Given the description of an element on the screen output the (x, y) to click on. 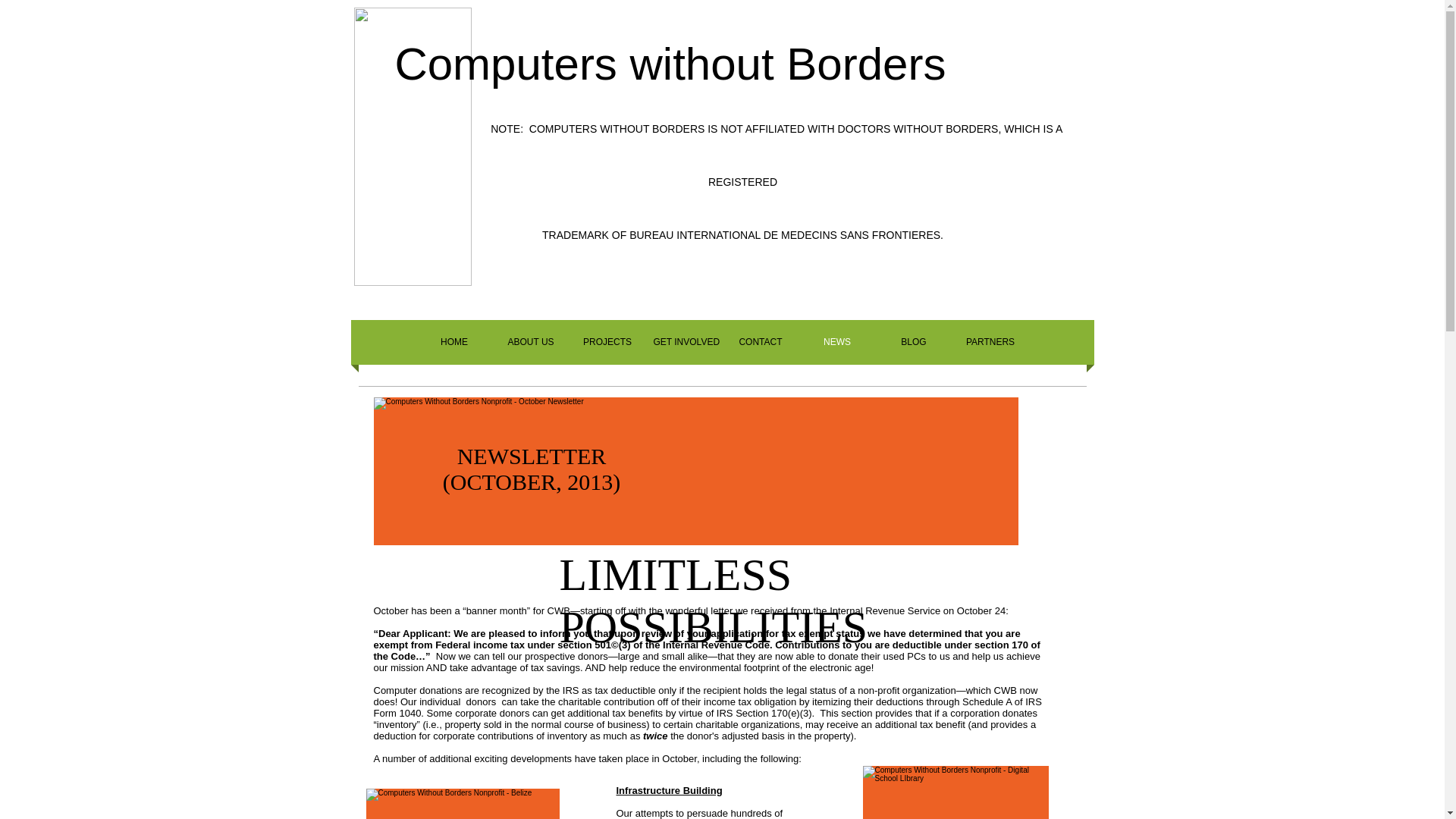
NEWS (837, 342)
Computers Without Borders Nonprofit - Digital School LIbrary (955, 792)
PROJECTS (607, 342)
HOME (453, 342)
PARTNERS (990, 342)
CONTACT (759, 342)
ABOUT US (531, 342)
Computers Without Borders Nonprofit - Belize (462, 803)
BLOG (913, 342)
GET INVOLVED (684, 342)
